Given the description of an element on the screen output the (x, y) to click on. 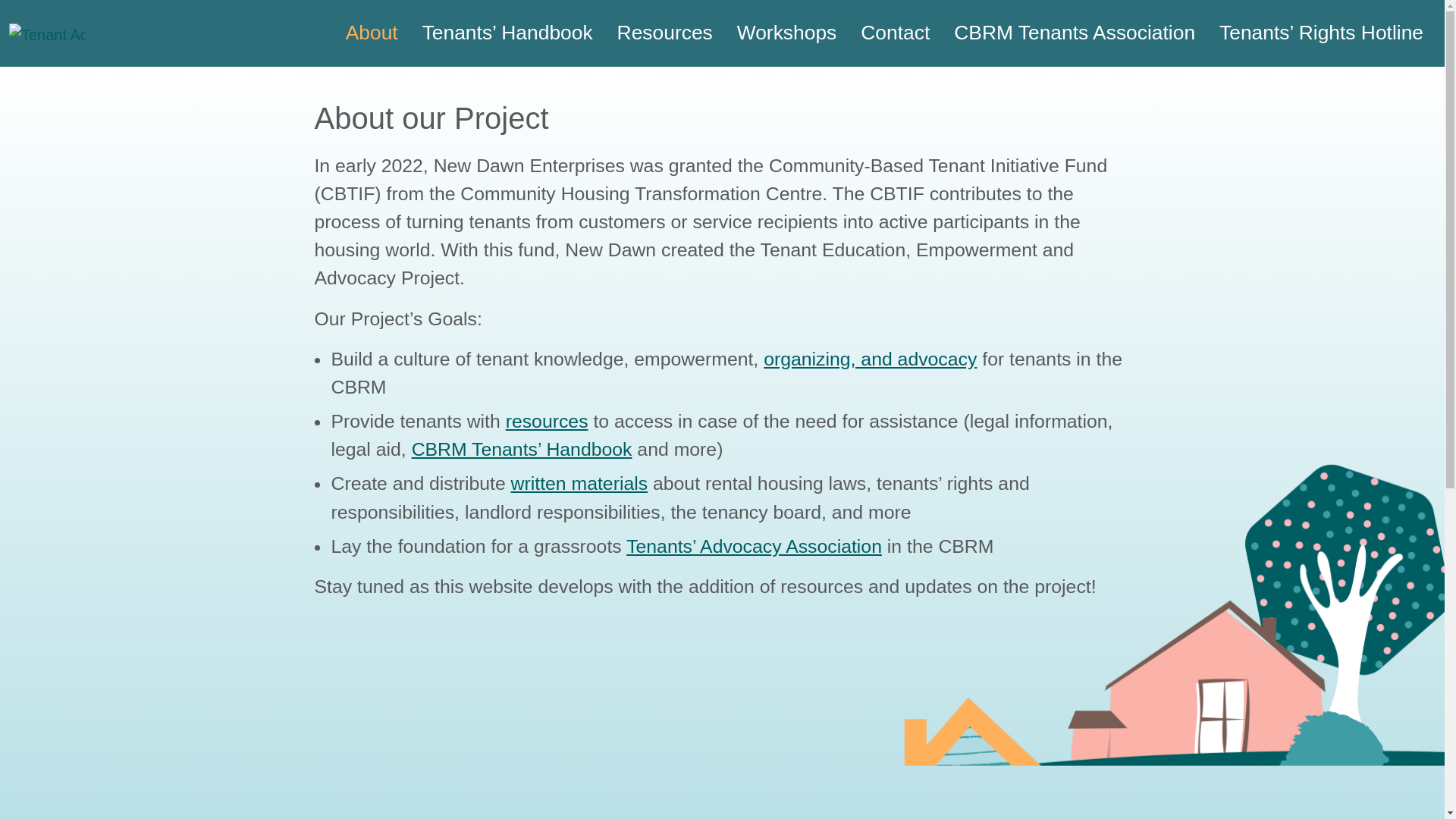
Contact (895, 33)
Workshops (786, 33)
written materials (579, 483)
resources (546, 421)
Resources (665, 33)
organizing, and advocacy (869, 358)
About (371, 33)
CBRM Tenants Association (1074, 33)
